Given the description of an element on the screen output the (x, y) to click on. 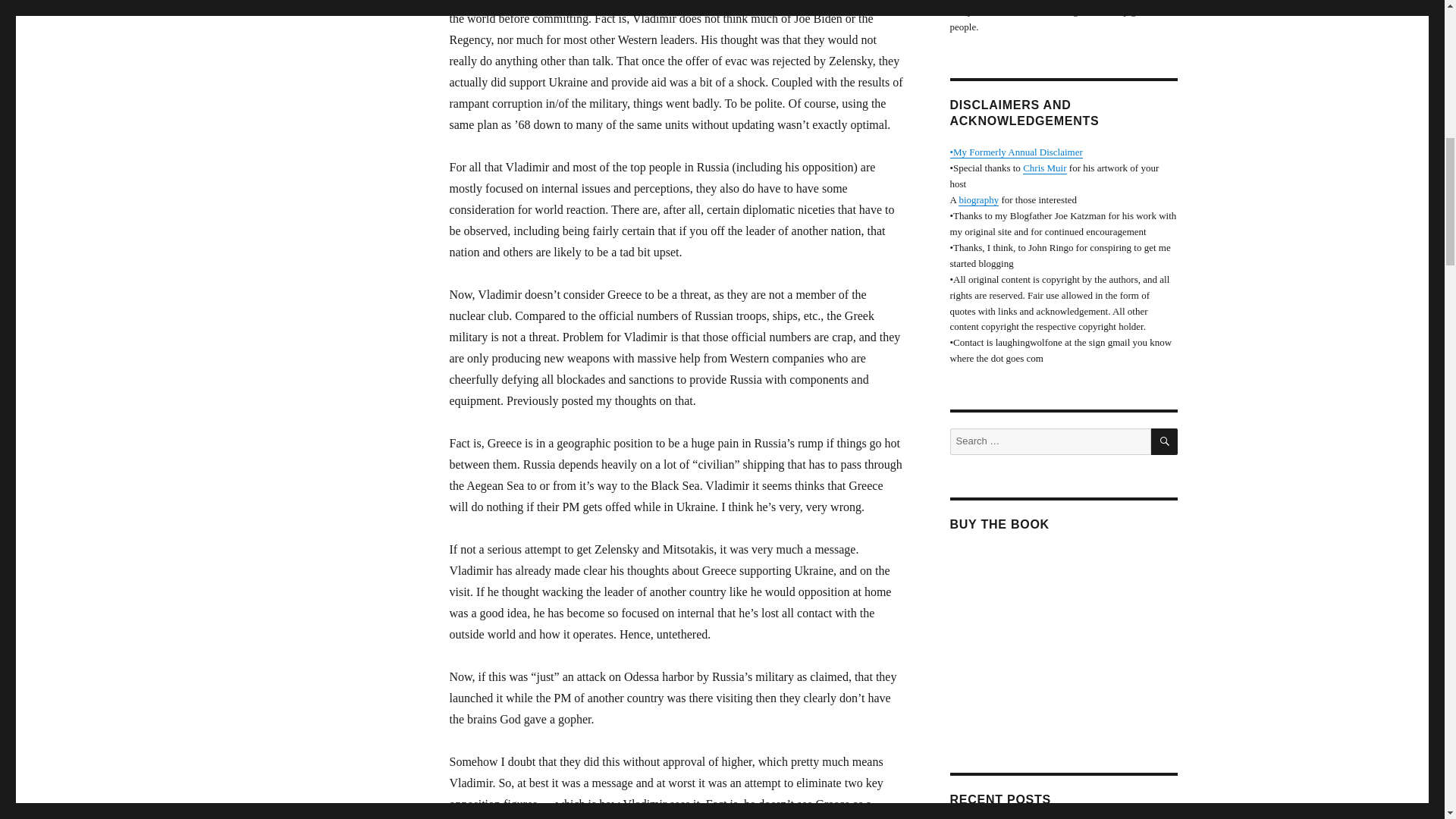
biography (978, 199)
SEARCH (1164, 441)
Chris Muir (1044, 167)
